Given the description of an element on the screen output the (x, y) to click on. 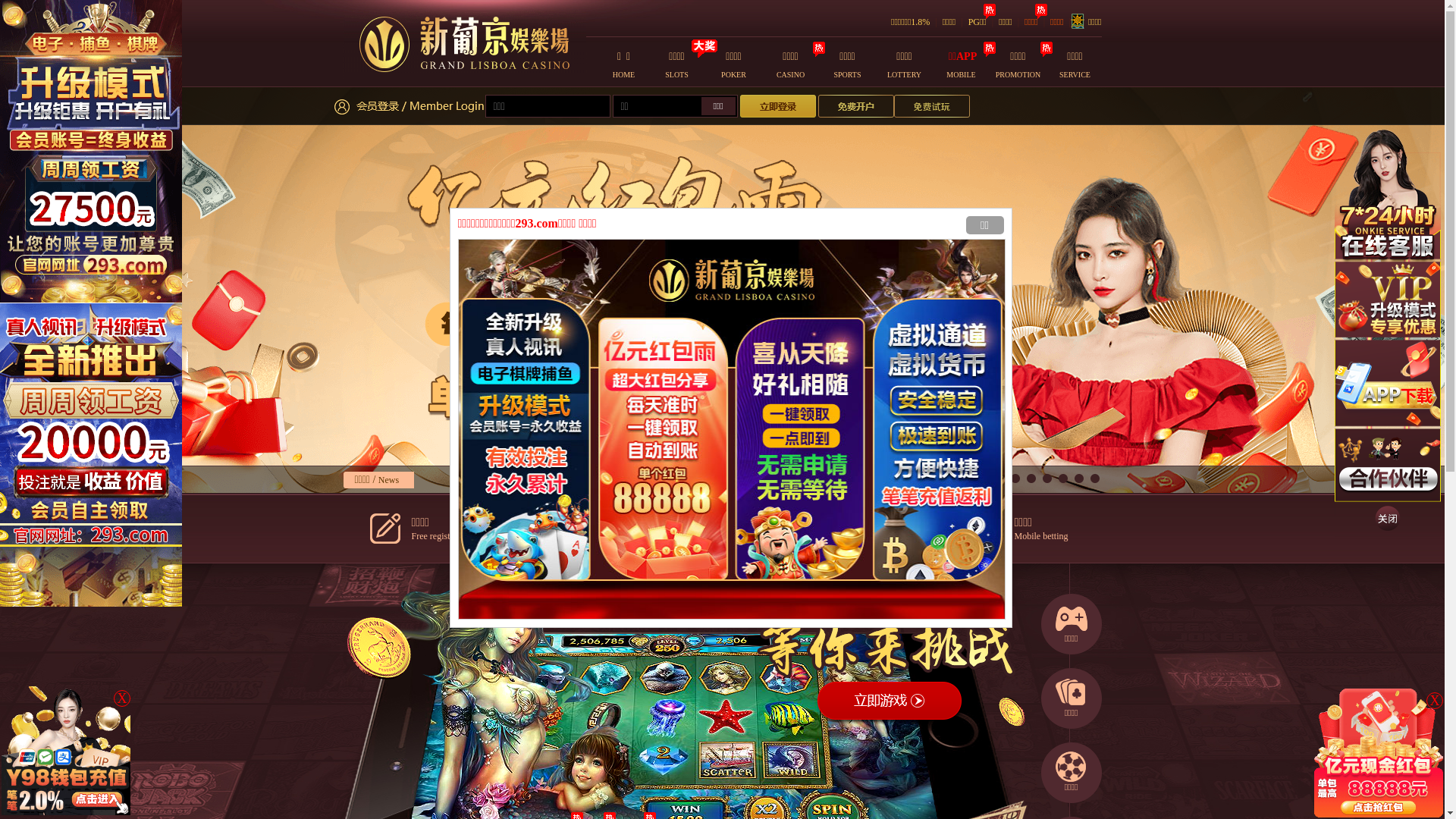
X Element type: text (121, 698)
X Element type: text (1434, 700)
